Given the description of an element on the screen output the (x, y) to click on. 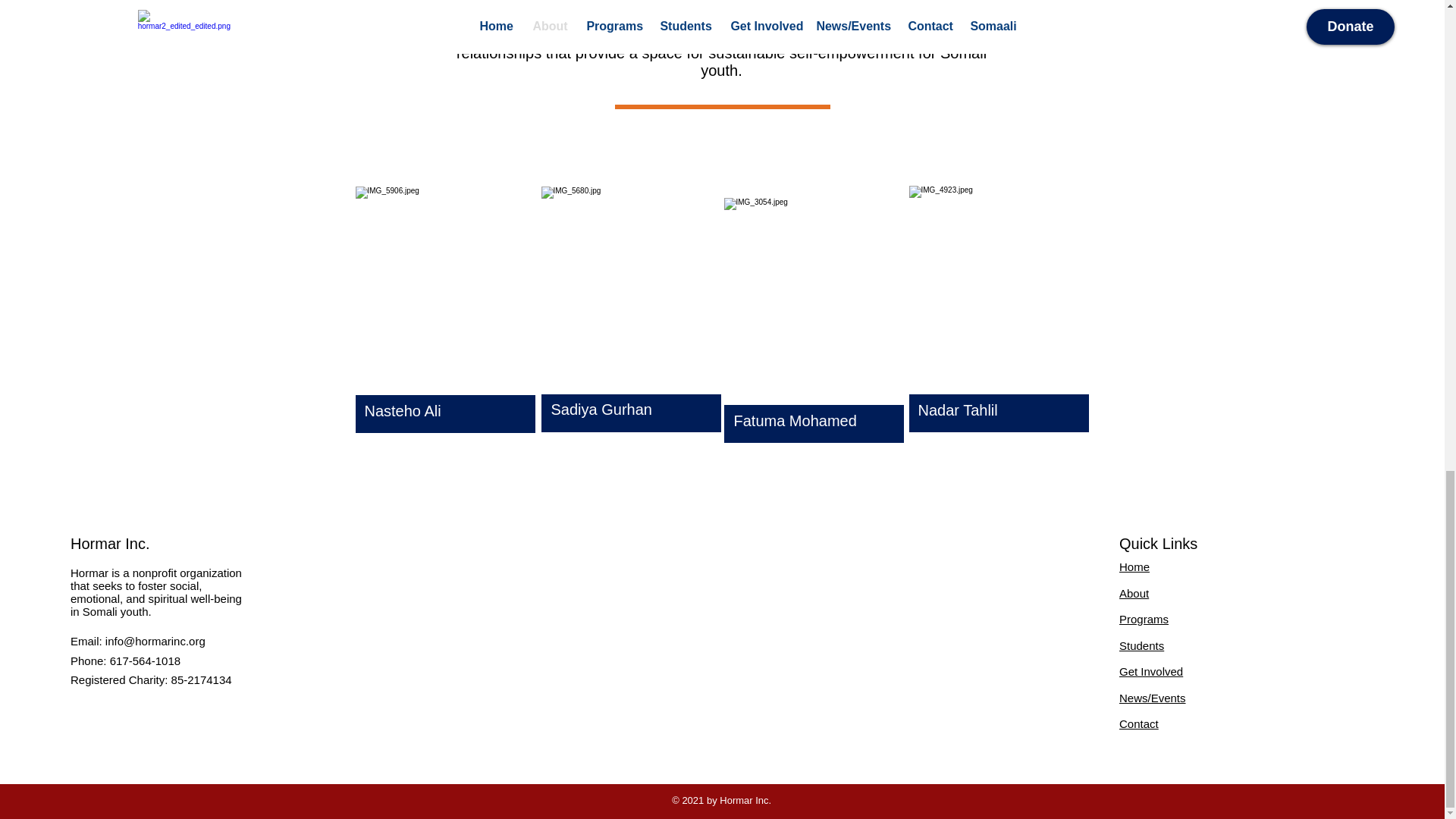
About (1133, 592)
Students (1141, 645)
Get Involved (1150, 671)
Programs (1144, 618)
Contact (1138, 723)
Home (1134, 566)
